Given the description of an element on the screen output the (x, y) to click on. 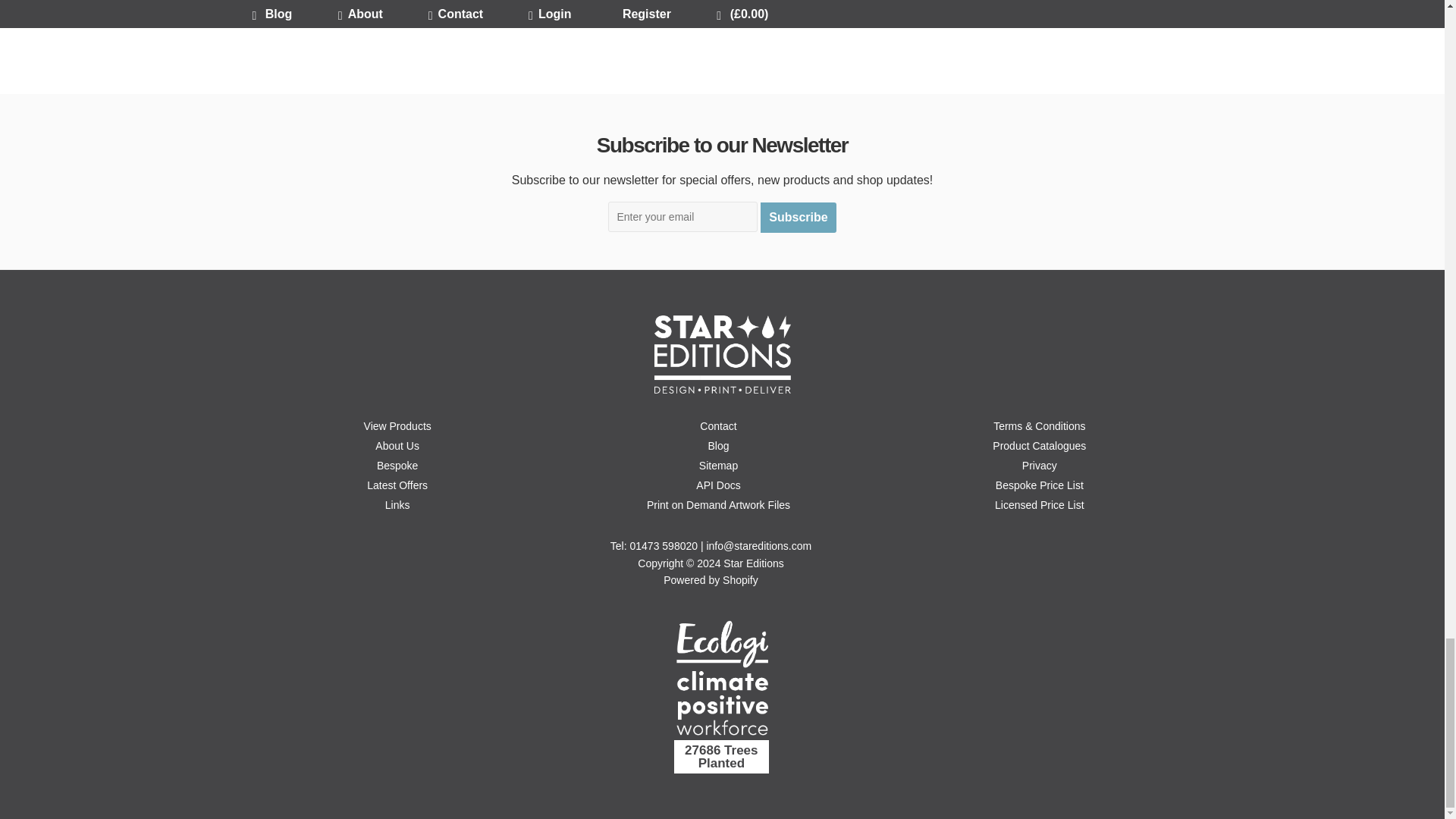
Subscribe (797, 217)
